Given the description of an element on the screen output the (x, y) to click on. 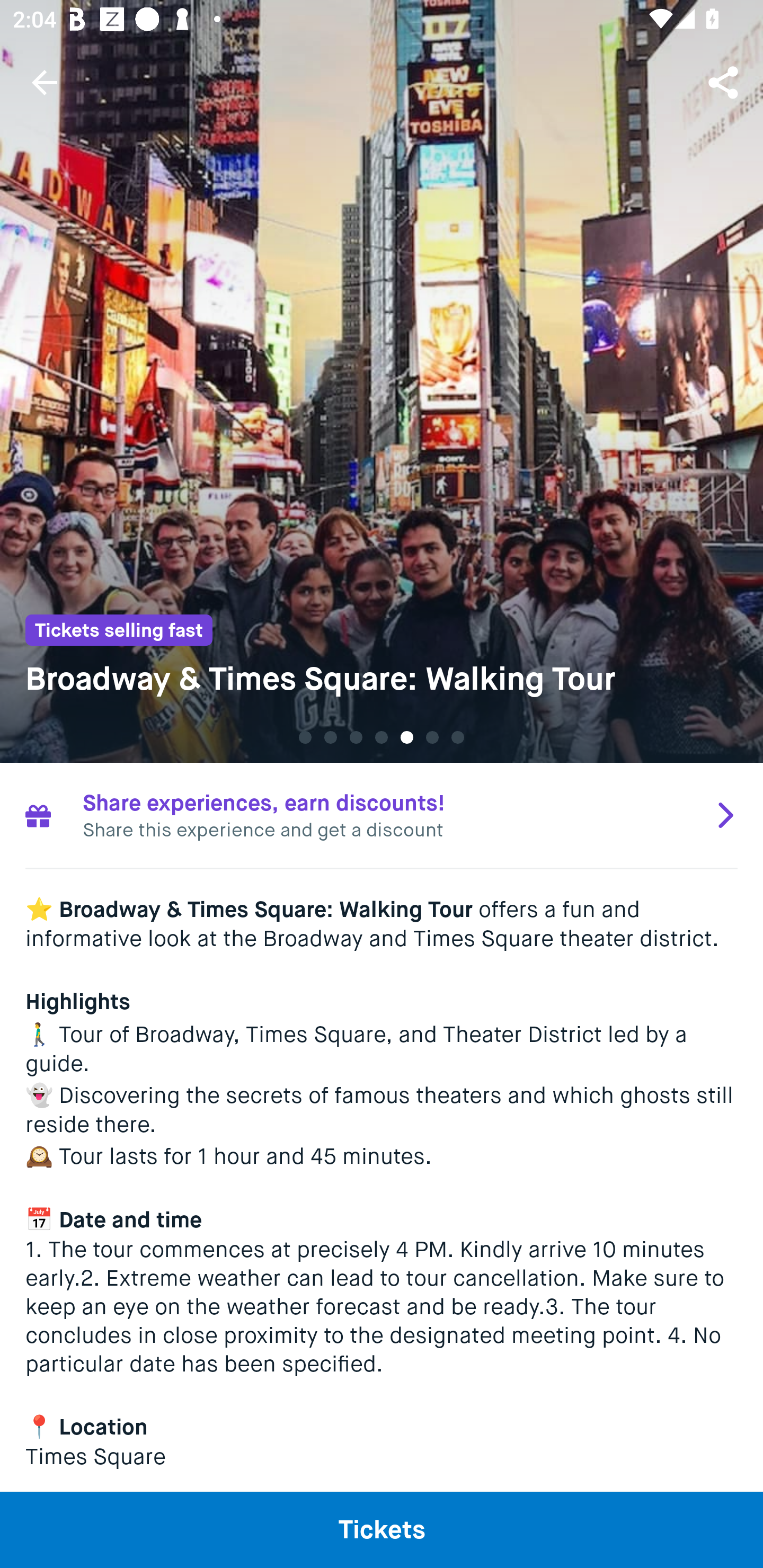
Navigate up (44, 82)
Share (724, 81)
Tickets (381, 1529)
